Given the description of an element on the screen output the (x, y) to click on. 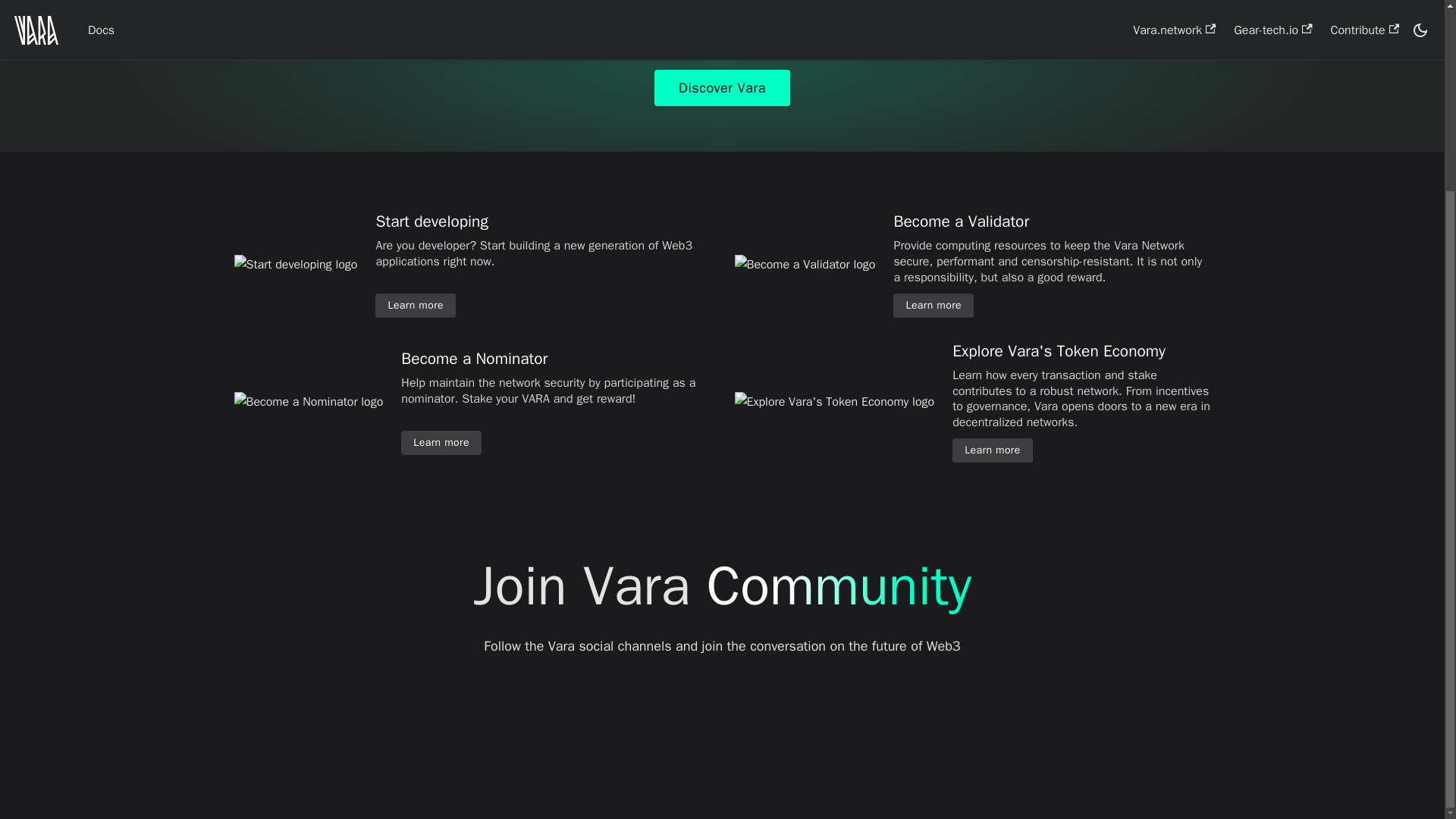
Github (673, 732)
Learn more (415, 305)
Medium (794, 732)
Learn more (992, 450)
Telegram (855, 732)
Learn more (933, 305)
X.com (612, 732)
Discord (734, 732)
Discover Vara (721, 87)
Learn more (441, 442)
